Given the description of an element on the screen output the (x, y) to click on. 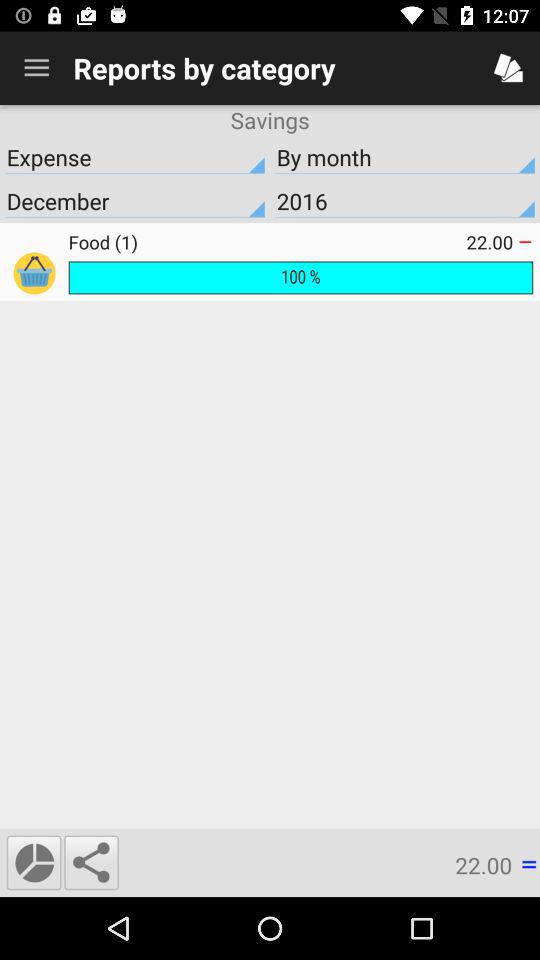
launch item to the left of by month item (135, 157)
